Given the description of an element on the screen output the (x, y) to click on. 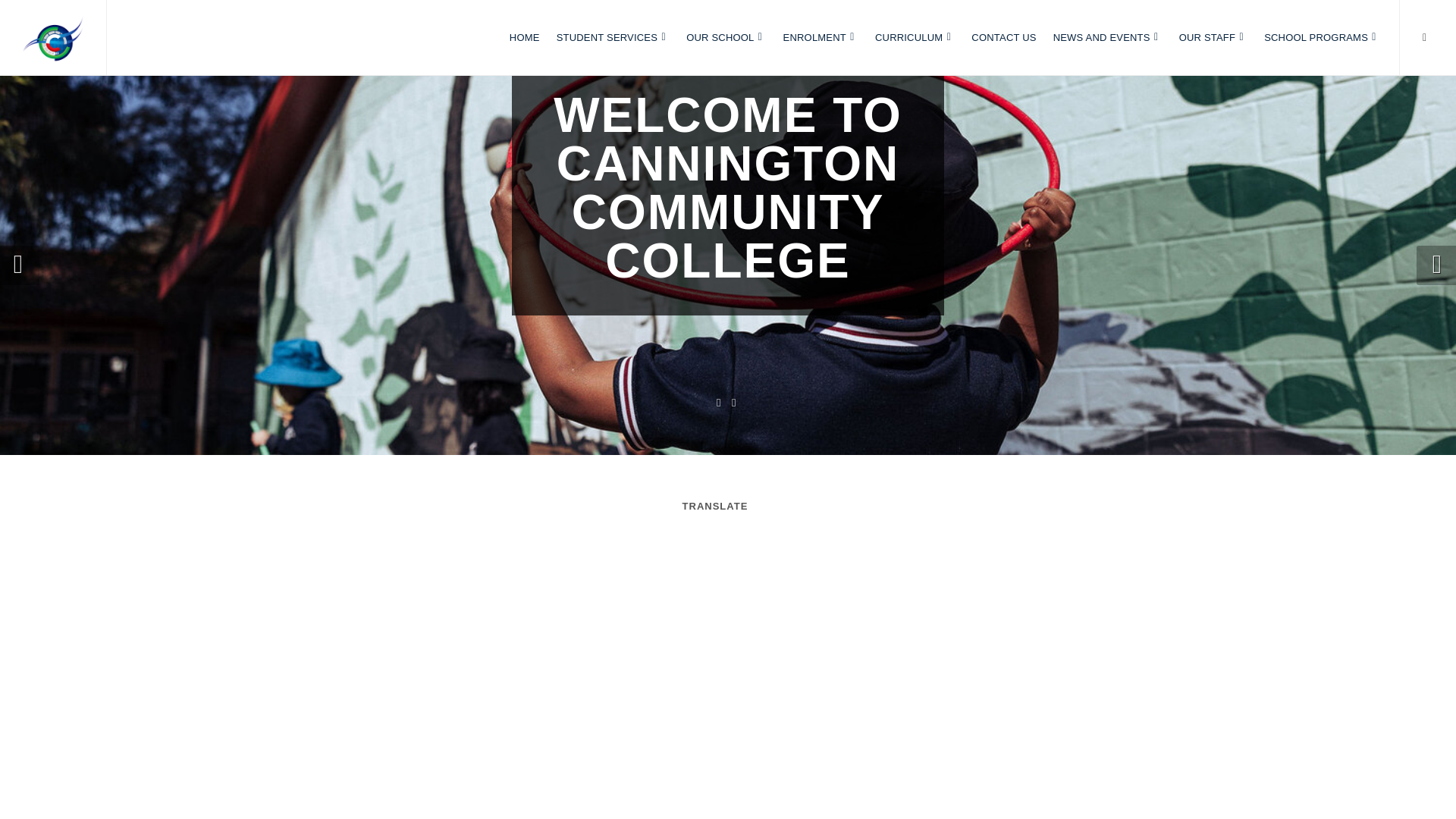
STUDENT SERVICES (612, 38)
CURRICULUM (914, 38)
Student Services (612, 38)
OUR SCHOOL (725, 38)
Our School (725, 38)
Enrolment (821, 38)
CONTACT US (1003, 38)
ENROLMENT (821, 38)
